Given the description of an element on the screen output the (x, y) to click on. 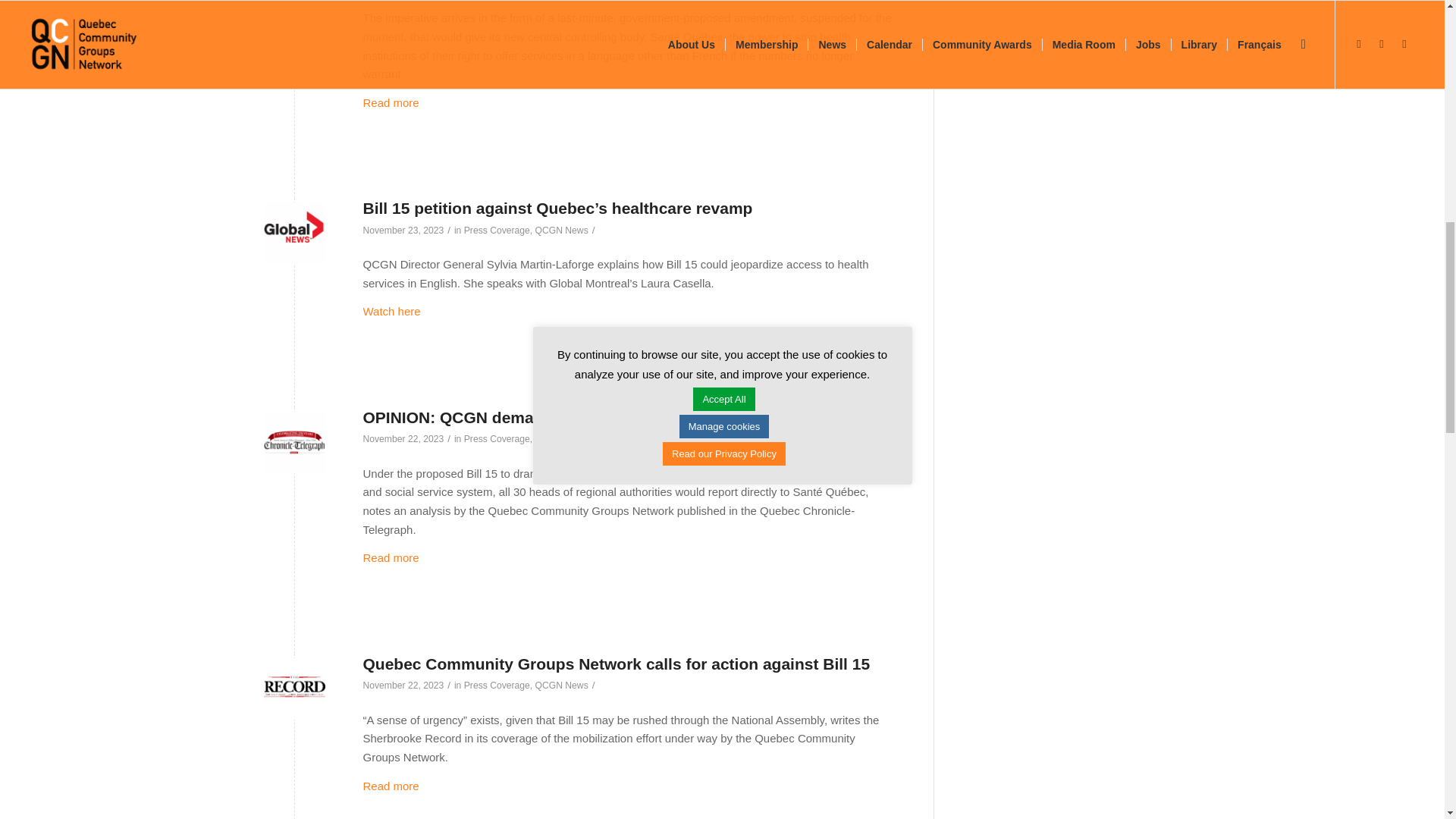
Global News Logo (293, 232)
